Given the description of an element on the screen output the (x, y) to click on. 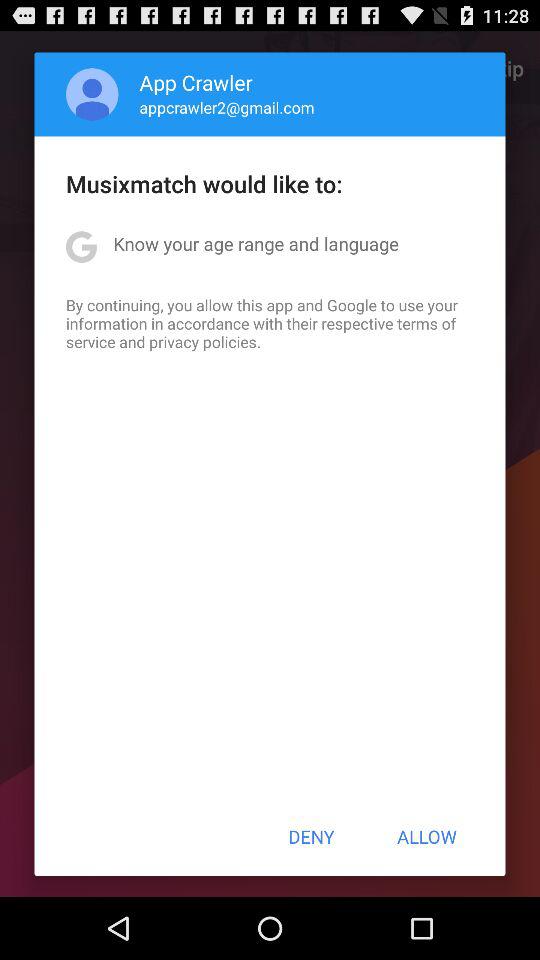
turn off deny button (311, 836)
